Given the description of an element on the screen output the (x, y) to click on. 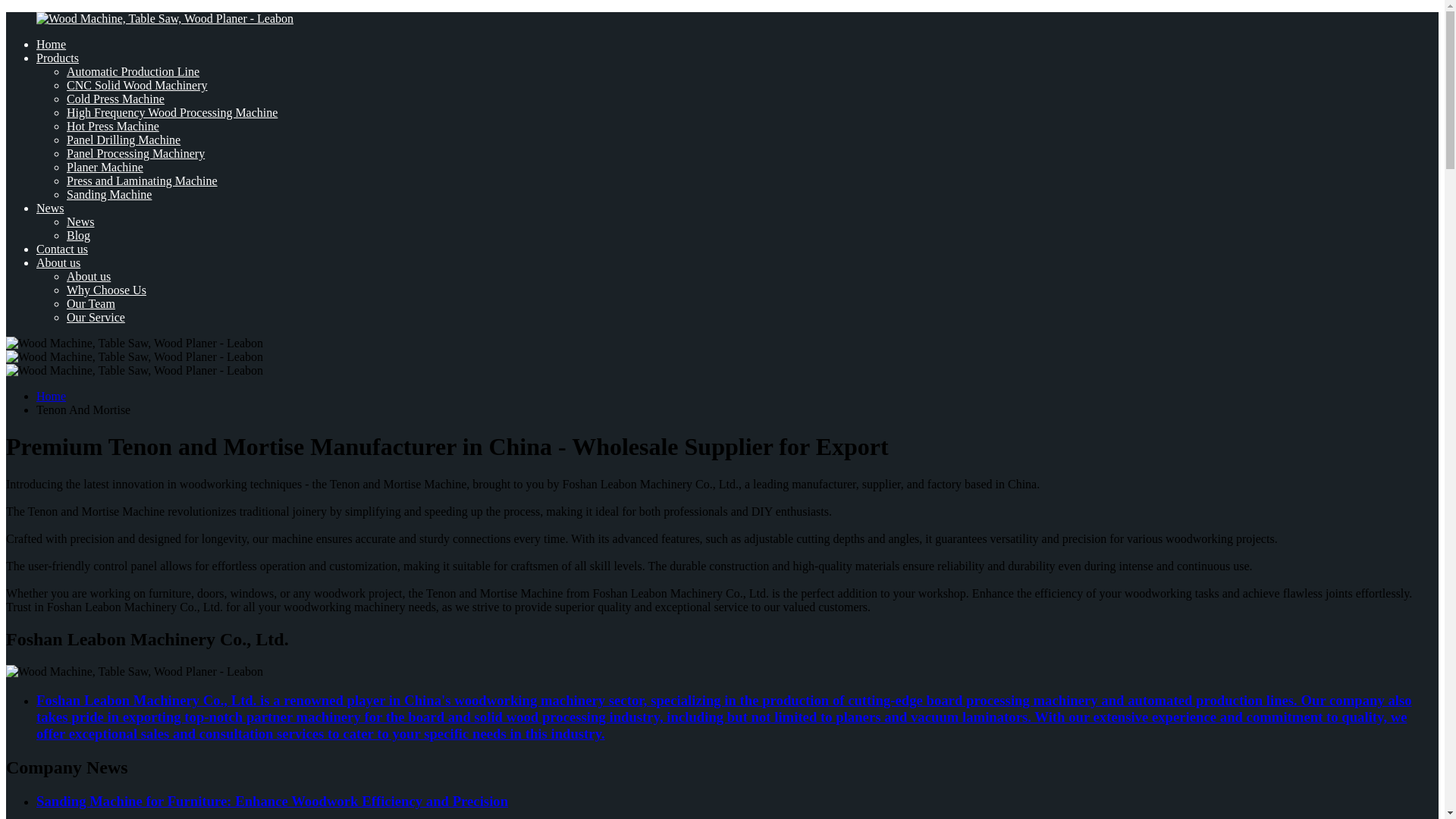
CNC Solid Wood Machinery (137, 84)
Hot Press Machine (112, 125)
Products (57, 57)
Cold Press Machine (115, 98)
News (50, 207)
Press and Laminating Machine (141, 180)
Panel Processing Machinery (135, 153)
High Frequency Wood Processing Machine (172, 112)
Why Choose Us (106, 289)
News (80, 221)
About us (88, 276)
Contact us (61, 248)
Sanding Machine (108, 194)
Automatic Production Line (132, 71)
Planer Machine (104, 166)
